Given the description of an element on the screen output the (x, y) to click on. 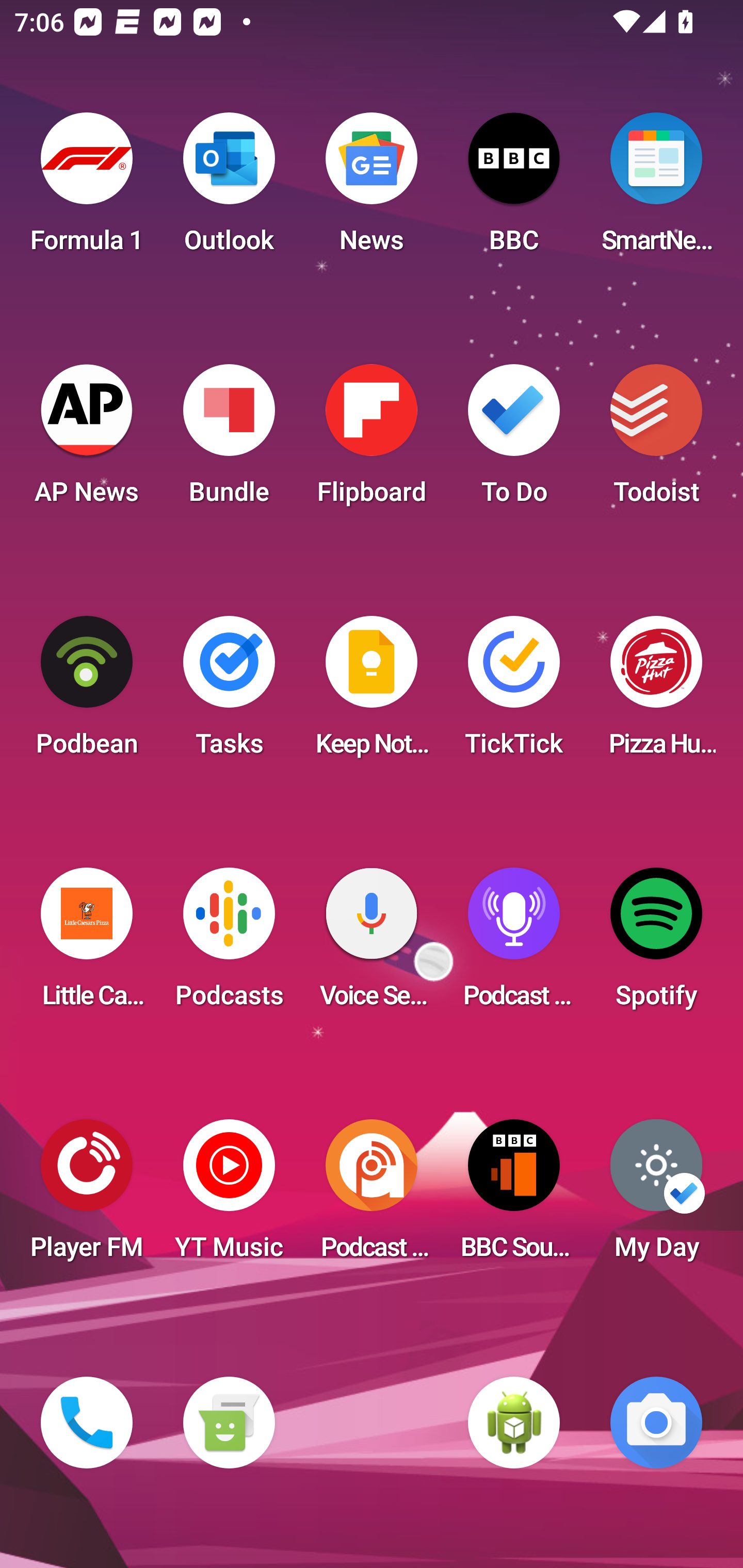
Formula 1 (86, 188)
Outlook (228, 188)
News (371, 188)
BBC (513, 188)
SmartNews (656, 188)
AP News (86, 440)
Bundle (228, 440)
Flipboard (371, 440)
To Do (513, 440)
Todoist (656, 440)
Podbean (86, 692)
Tasks (228, 692)
Keep Notes (371, 692)
TickTick (513, 692)
Pizza Hut HK & Macau (656, 692)
Little Caesars Pizza (86, 943)
Podcasts (228, 943)
Voice Search (371, 943)
Podcast Player (513, 943)
Spotify (656, 943)
Player FM (86, 1195)
YT Music (228, 1195)
Podcast Addict (371, 1195)
BBC Sounds (513, 1195)
My Day (656, 1195)
Phone (86, 1422)
Messaging (228, 1422)
WebView Browser Tester (513, 1422)
Camera (656, 1422)
